Given the description of an element on the screen output the (x, y) to click on. 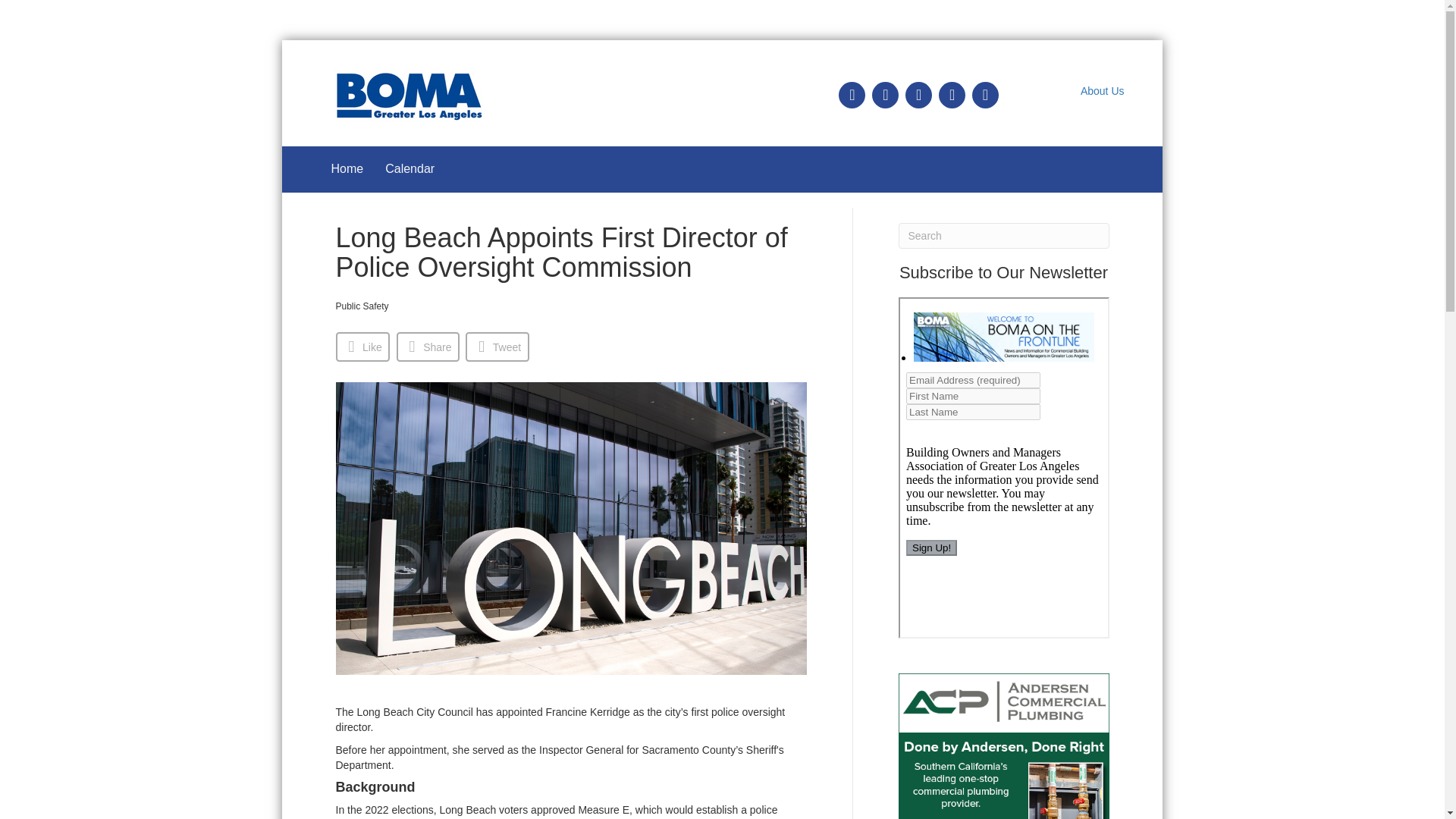
Type and press Enter to search. (1003, 235)
Andersen Commercial Plumbing (1003, 746)
About Us (1102, 91)
Home (347, 169)
Public Safety (361, 306)
Calendar (409, 169)
Tweet (496, 346)
Share (428, 346)
Like (362, 346)
